Given the description of an element on the screen output the (x, y) to click on. 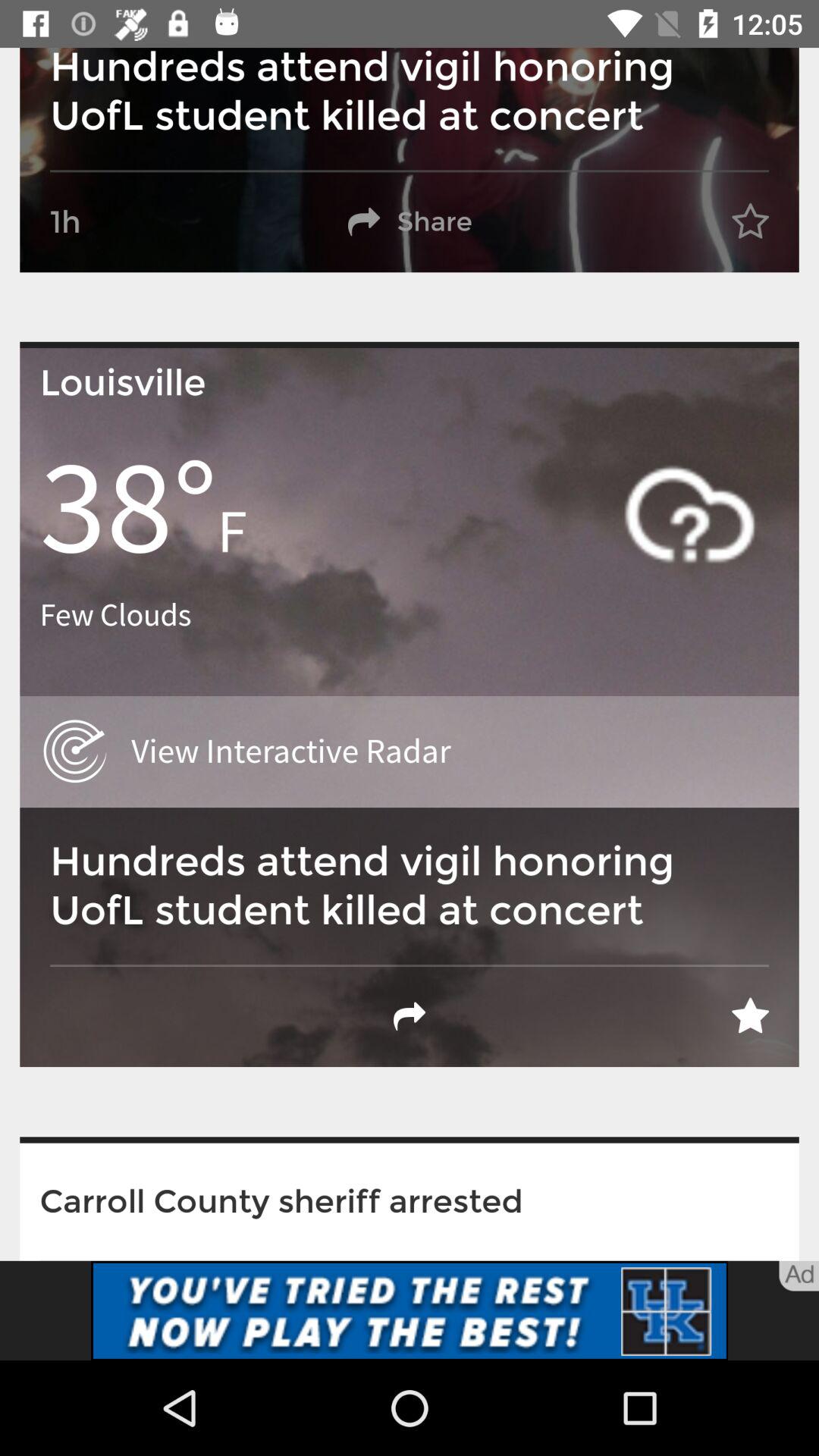
link button (409, 1310)
